Given the description of an element on the screen output the (x, y) to click on. 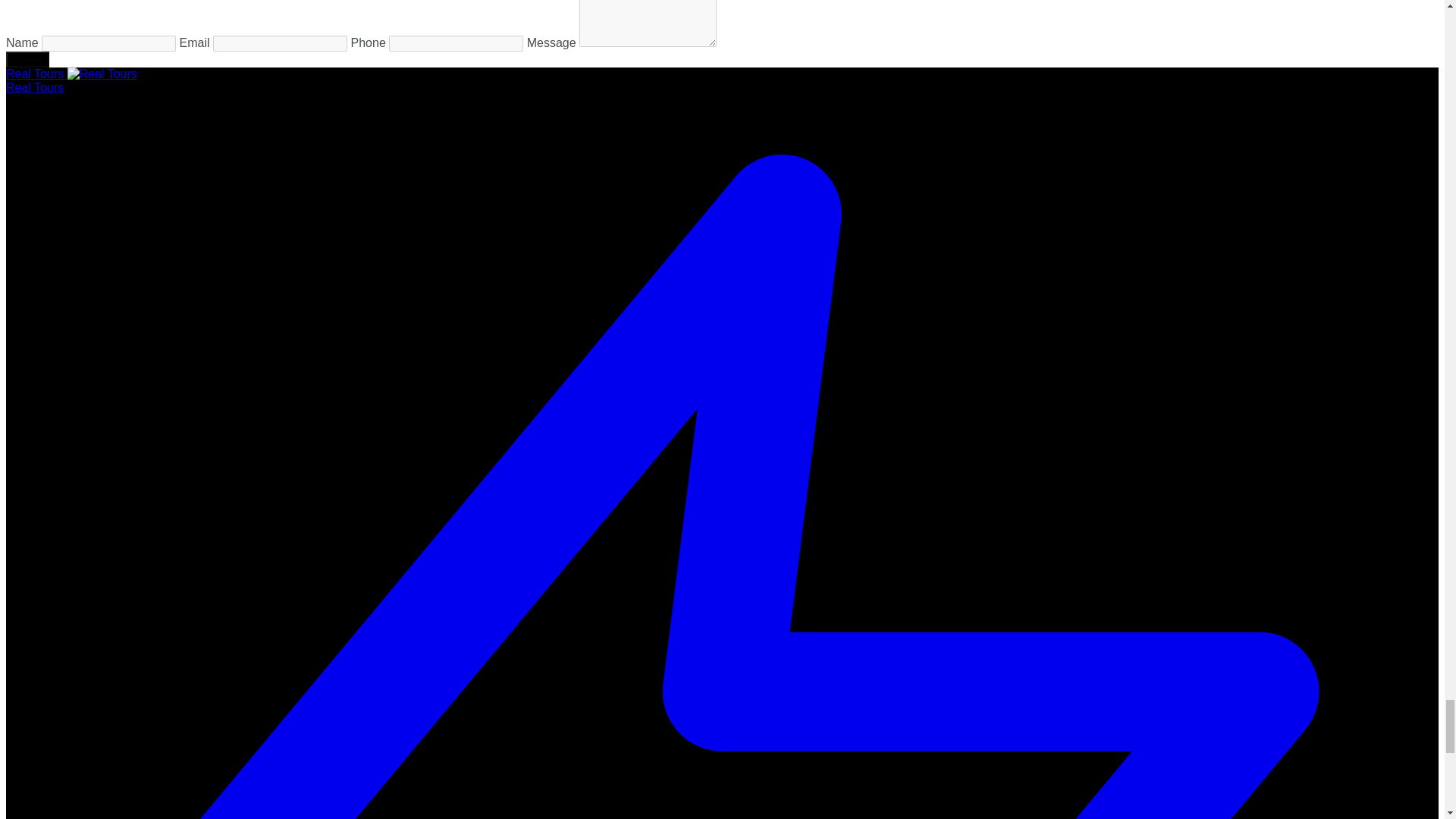
Real Tours (70, 73)
